Given the description of an element on the screen output the (x, y) to click on. 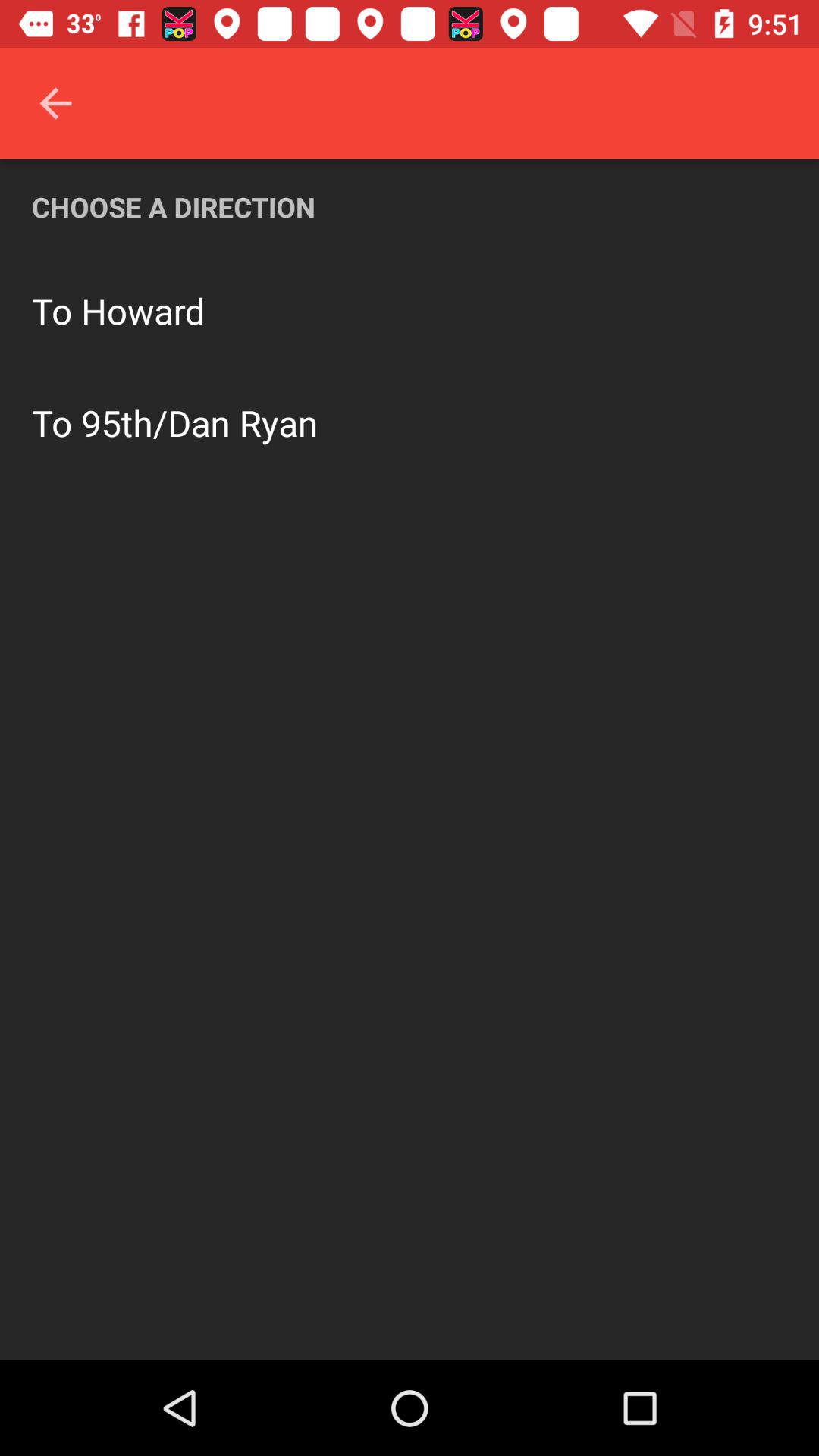
swipe until howard icon (143, 310)
